Given the description of an element on the screen output the (x, y) to click on. 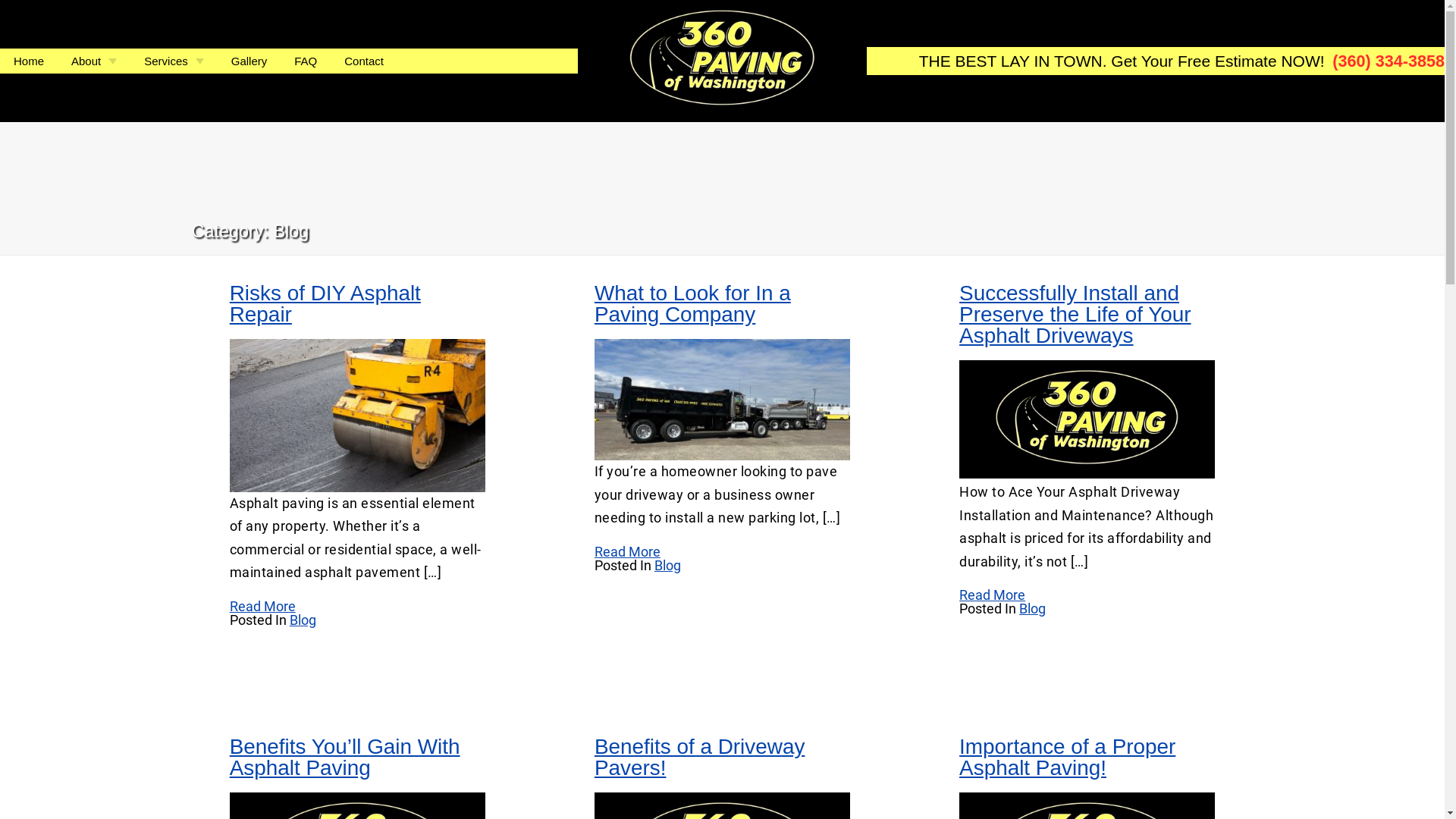
Home Element type: text (28, 60)
Blog Element type: text (667, 565)
What to Look for In a Paving Company Element type: text (692, 303)
Read More Element type: text (262, 606)
Read More Element type: text (992, 594)
Blog Element type: text (1032, 608)
Blog Element type: text (302, 619)
Gallery Element type: text (249, 60)
Asphalt Repair Vancouver WA Element type: hover (357, 414)
Benefits of a Driveway Pavers! Element type: text (699, 756)
About Element type: text (93, 60)
(360) 334-3858 Element type: text (1388, 61)
Read More Element type: text (627, 551)
Services Element type: text (173, 60)
Risks of DIY Asphalt Repair Element type: text (324, 303)
FAQ Element type: text (305, 60)
Importance of a Proper Asphalt Paving! Element type: text (1067, 756)
Paving Company Vancouver WA Element type: hover (722, 399)
Contact Element type: text (363, 60)
